Given the description of an element on the screen output the (x, y) to click on. 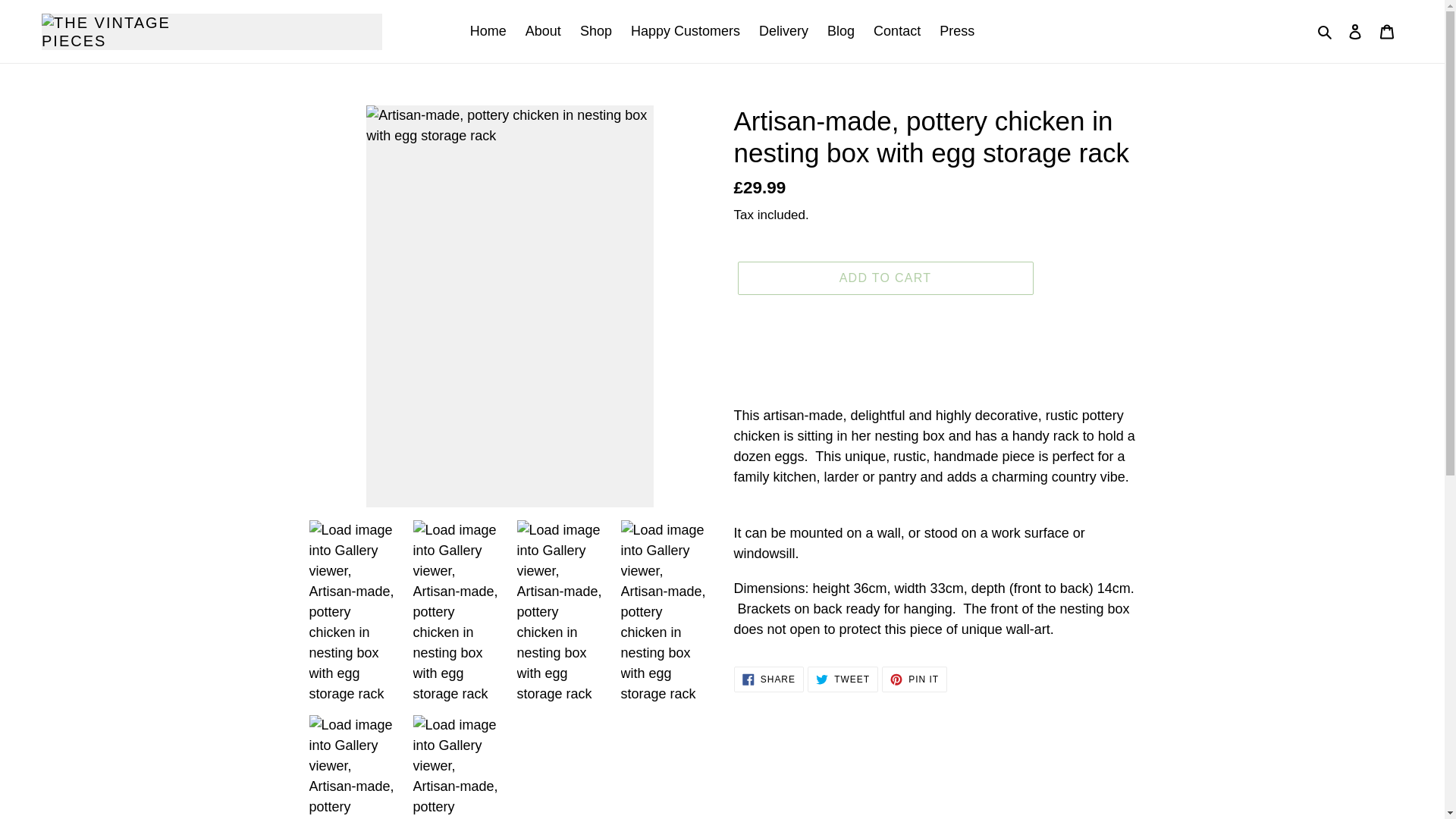
Home (488, 31)
Press (956, 31)
About (543, 31)
Happy Customers (685, 31)
Blog (840, 31)
Search (1326, 31)
Delivery (768, 679)
Log in (783, 31)
Contact (1355, 31)
Shop (842, 679)
ADD TO CART (897, 31)
Cart (596, 31)
